Given the description of an element on the screen output the (x, y) to click on. 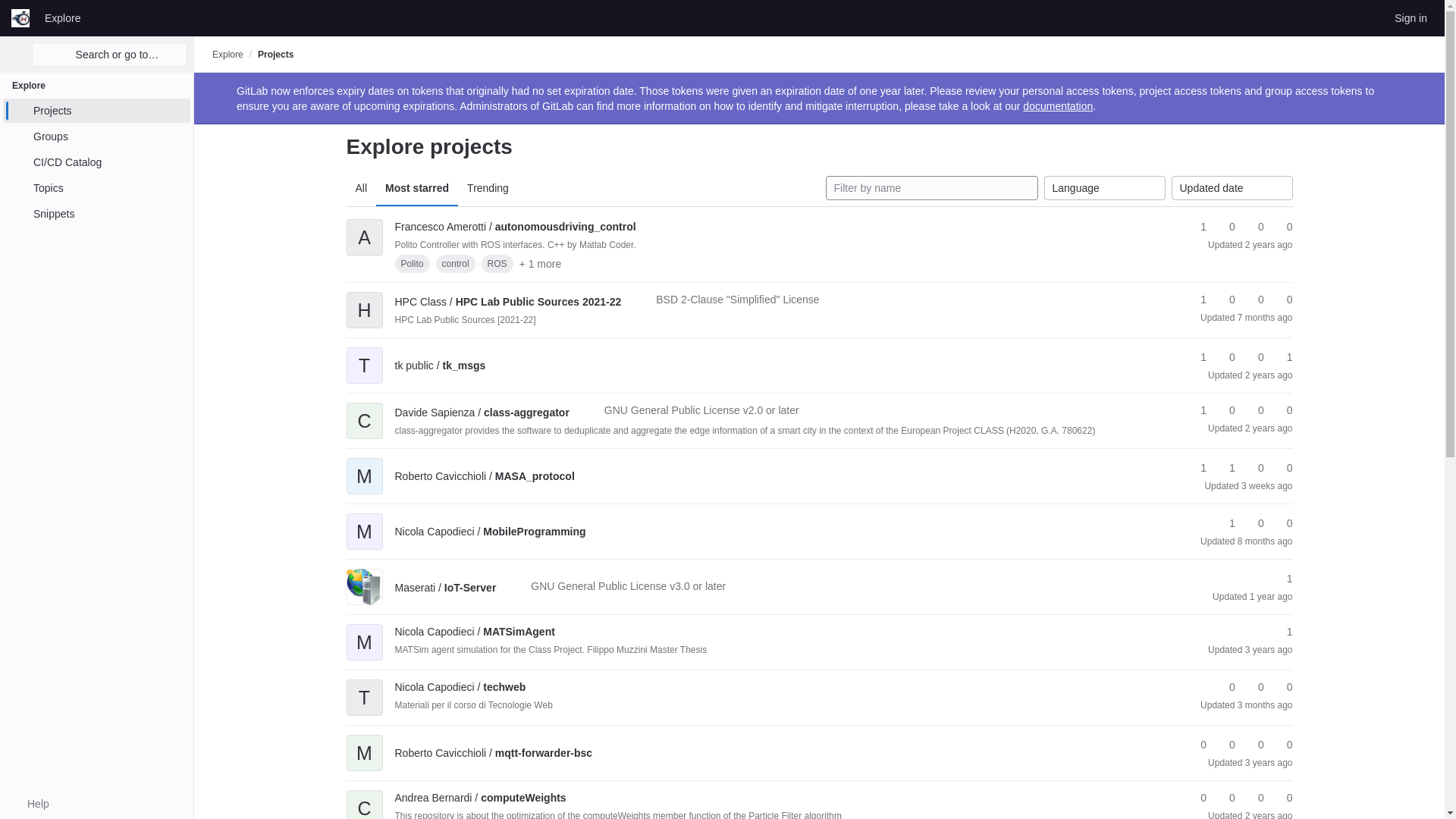
Merge requests (1253, 227)
Stars (1196, 299)
Stars (1196, 227)
HPC Lab Public Sources 2021-22 (507, 301)
Topics (96, 187)
Help (30, 803)
Explore (227, 54)
Forks (1224, 227)
documentation (1058, 105)
Language (1103, 187)
